Given the description of an element on the screen output the (x, y) to click on. 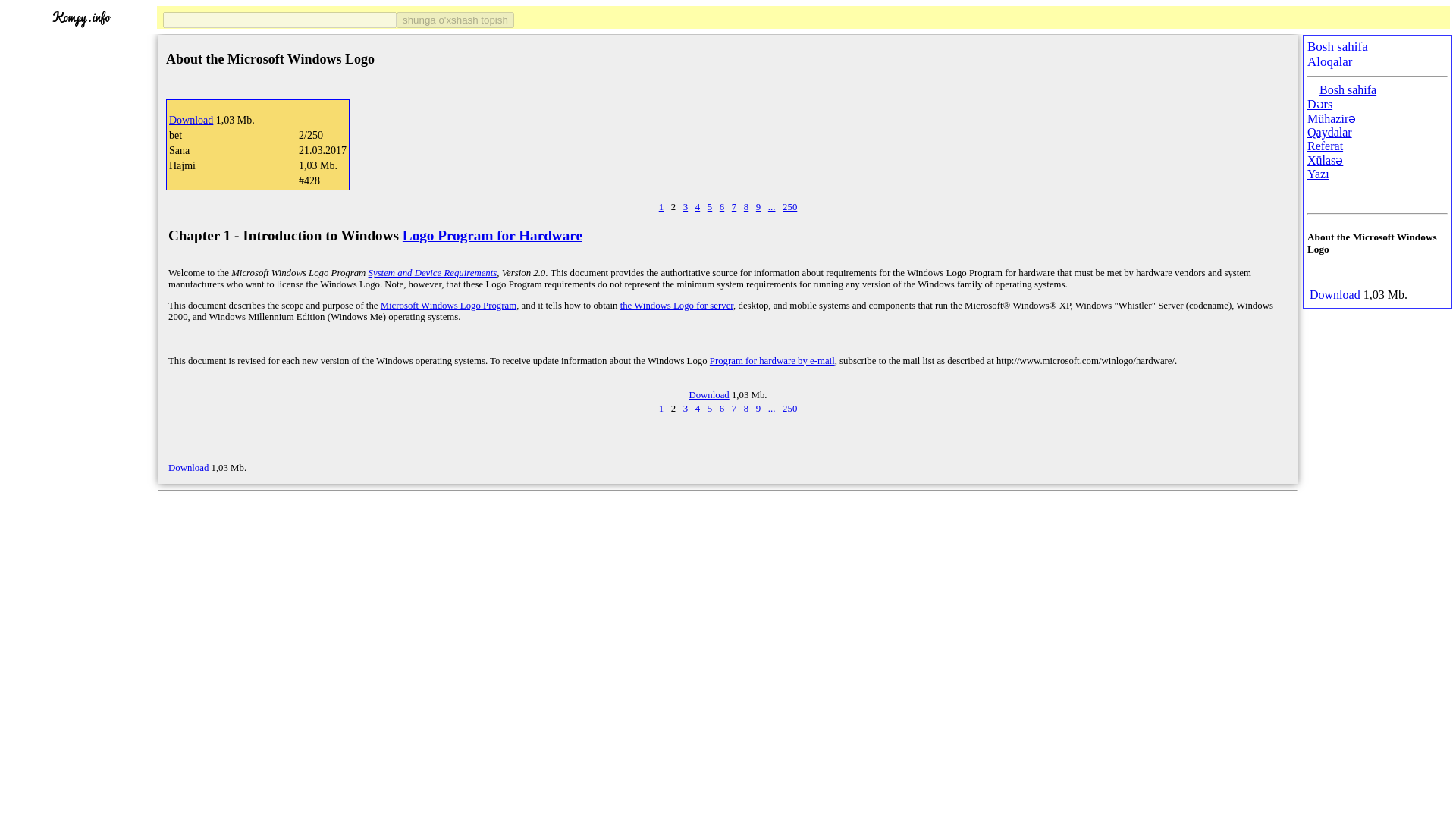
Bosh sahifa (1337, 46)
250 (789, 408)
Microsoft Windows Logo Program (448, 305)
Download (190, 120)
Download (708, 394)
Qaydalar (1329, 132)
Download (188, 467)
shunga o'xshash topish (454, 19)
the Windows Logo for server (676, 305)
Bosh sahifa (1347, 89)
shunga o'xshash topish (454, 19)
Referat (1324, 145)
250 (789, 206)
Aloqalar (1329, 61)
System and Device Requirements (432, 272)
